Given the description of an element on the screen output the (x, y) to click on. 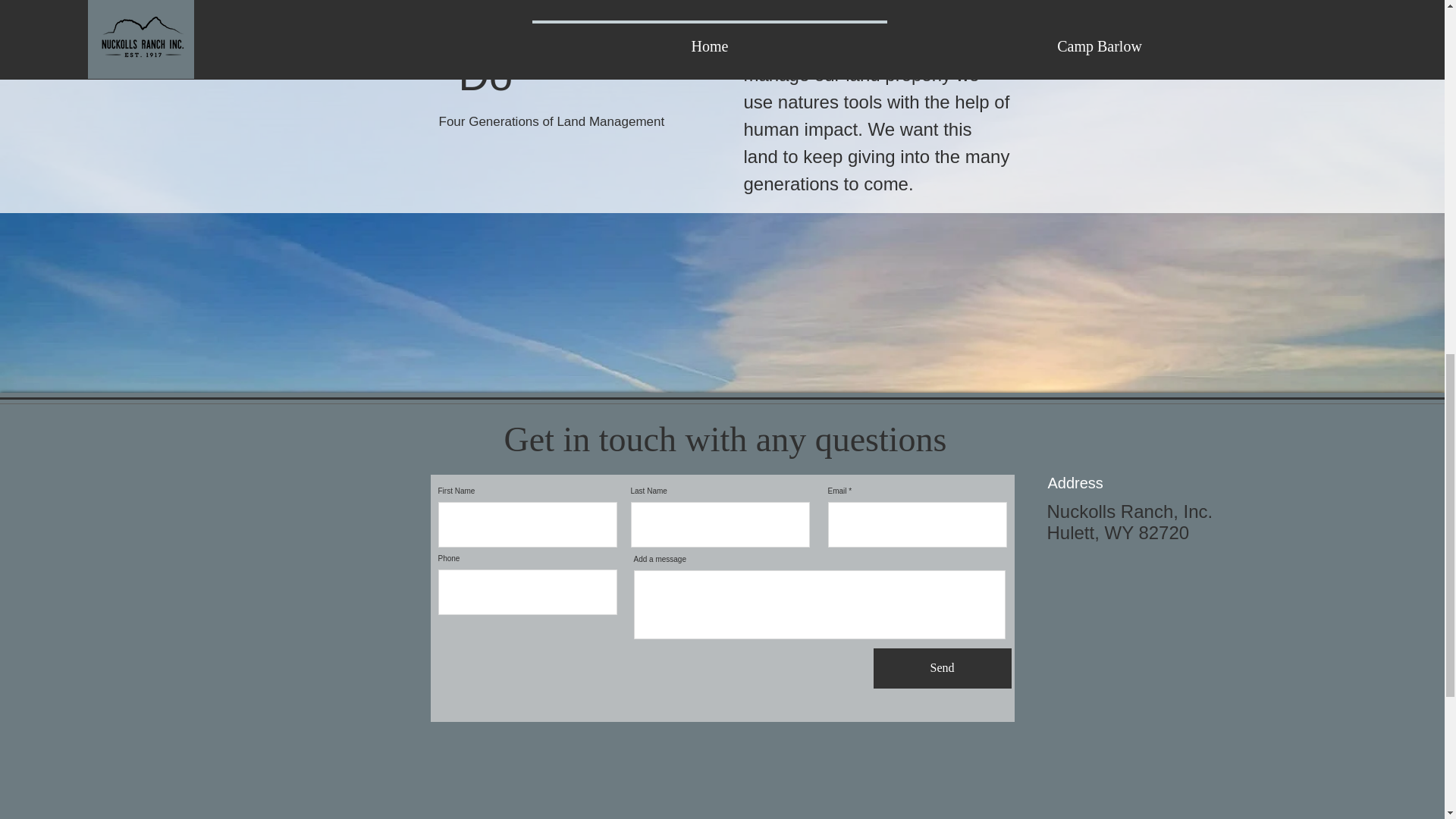
Send (942, 668)
